Given the description of an element on the screen output the (x, y) to click on. 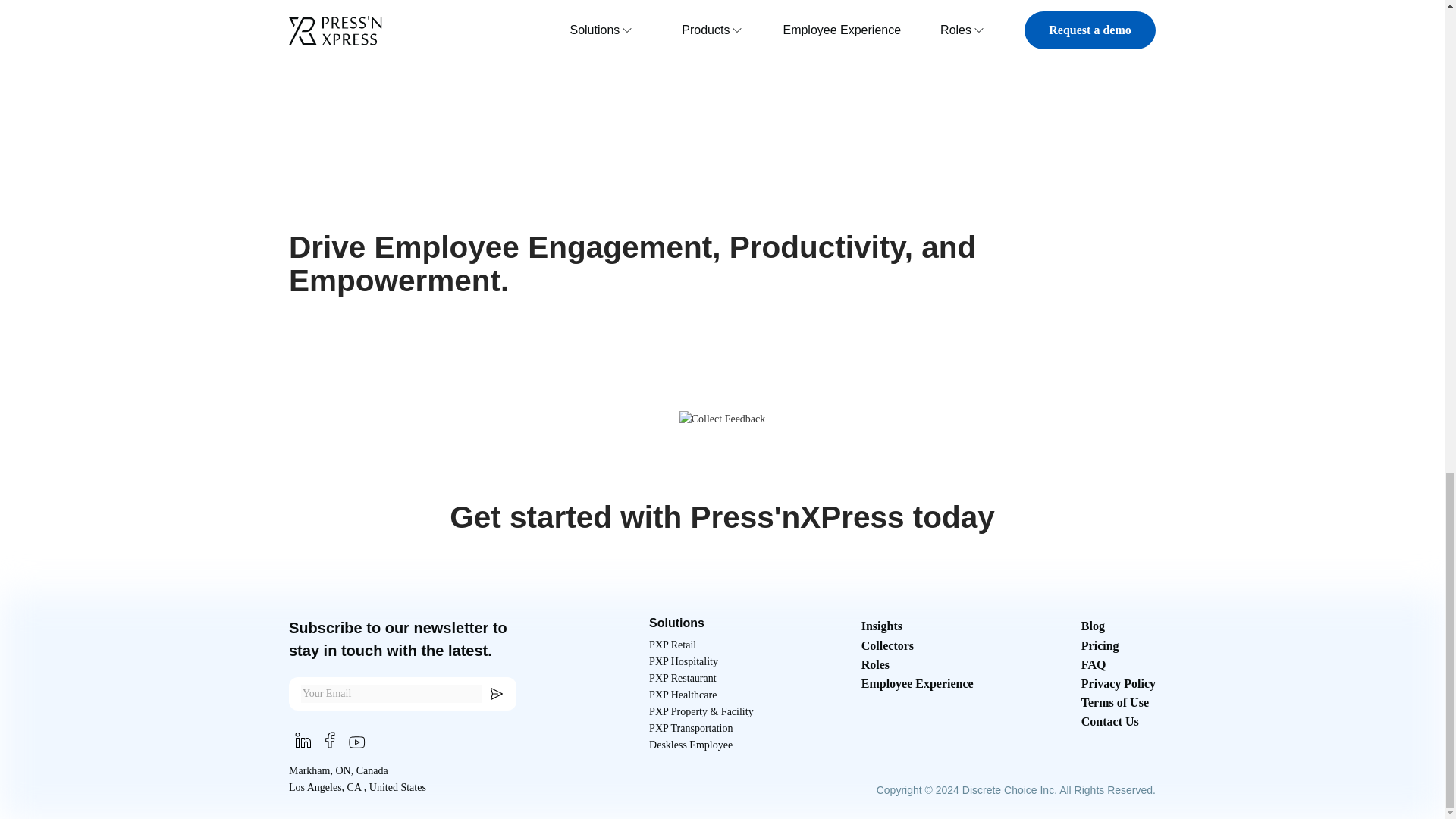
PXP Restaurant (682, 678)
PXP Hospitality (683, 661)
PXP Retail (672, 645)
PXP Healthcare (682, 695)
